Given the description of an element on the screen output the (x, y) to click on. 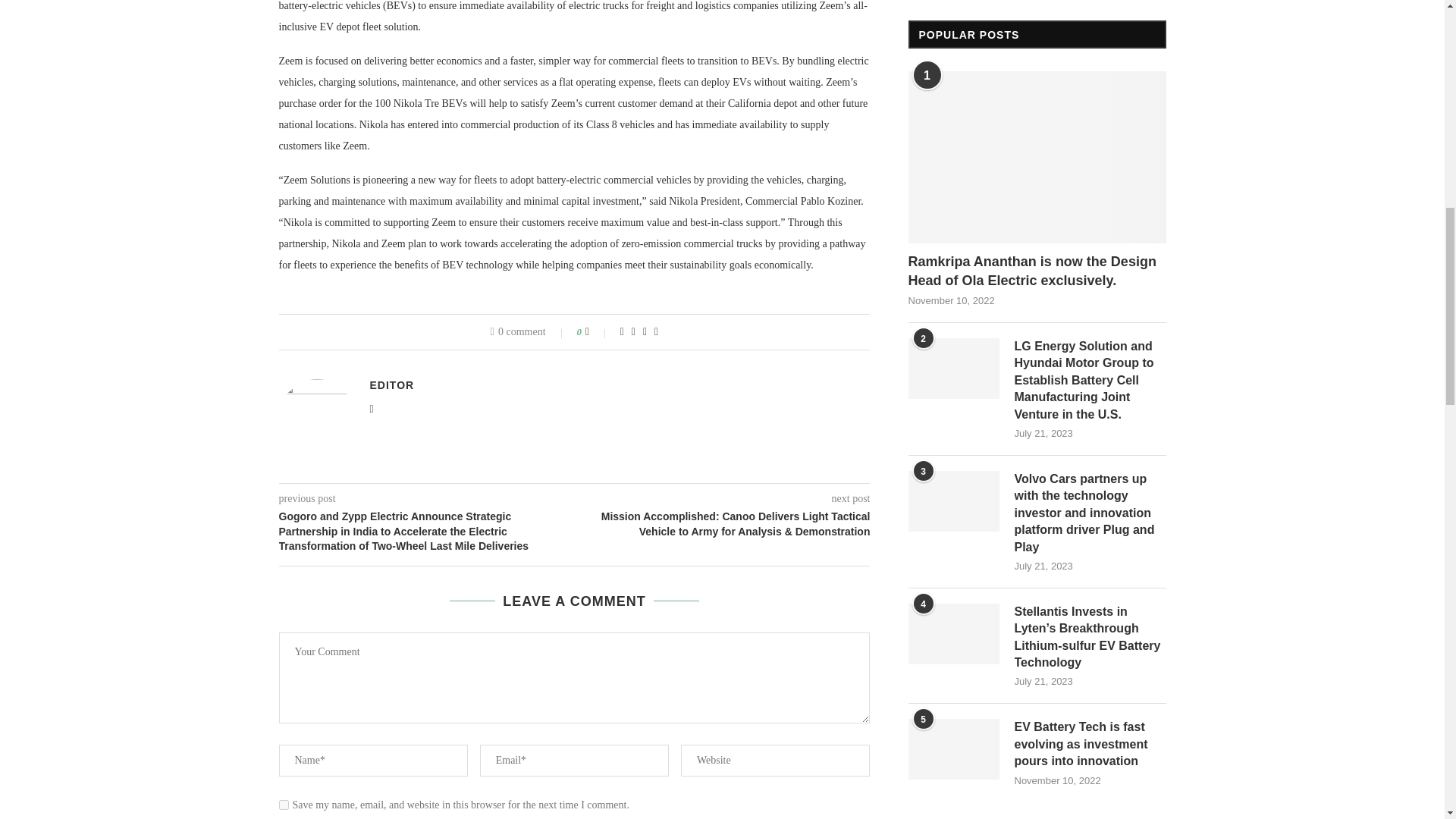
yes (283, 804)
Like (597, 331)
Author Editor (391, 385)
